Given the description of an element on the screen output the (x, y) to click on. 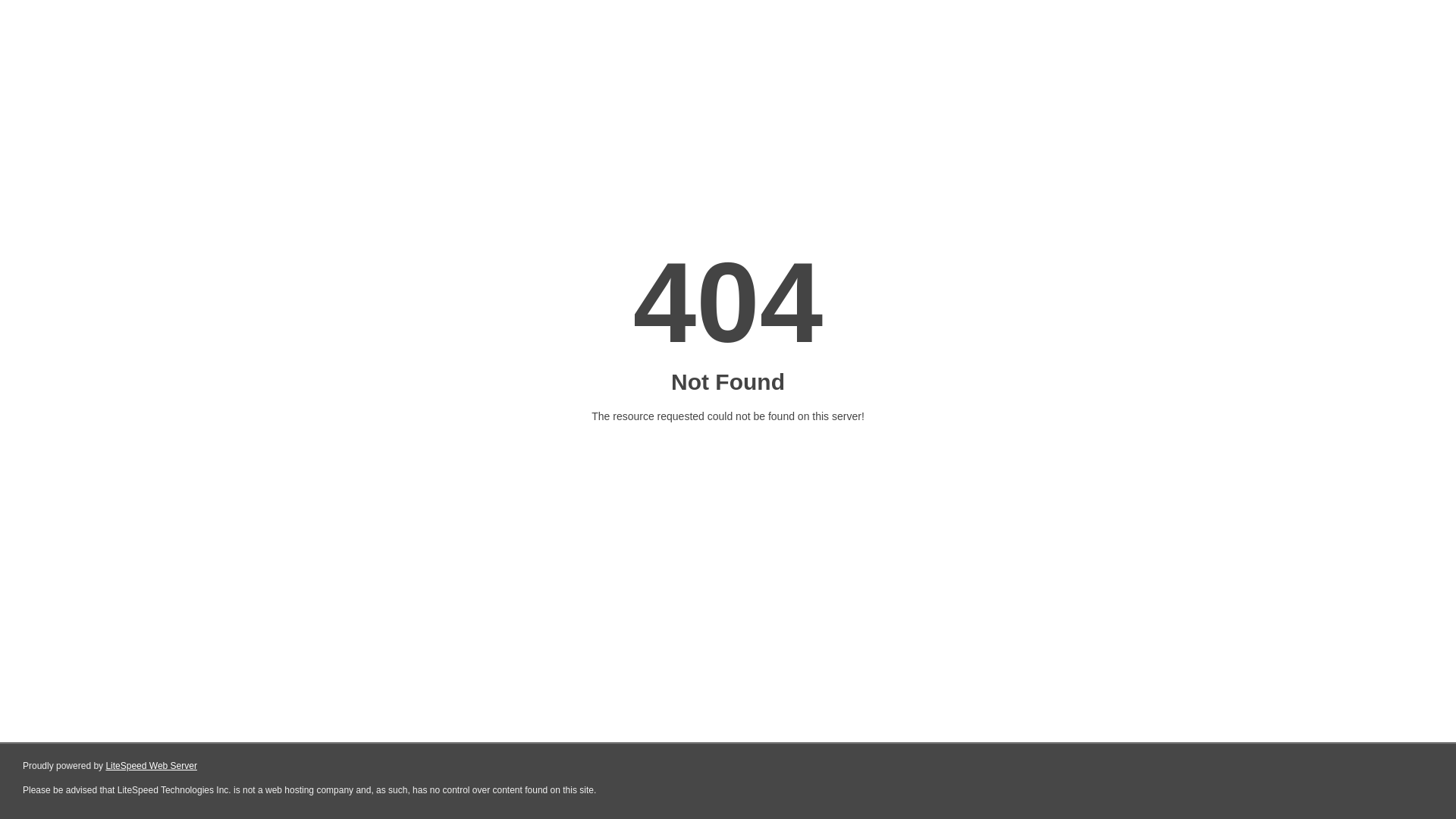
LiteSpeed Web Server Element type: text (151, 765)
